Given the description of an element on the screen output the (x, y) to click on. 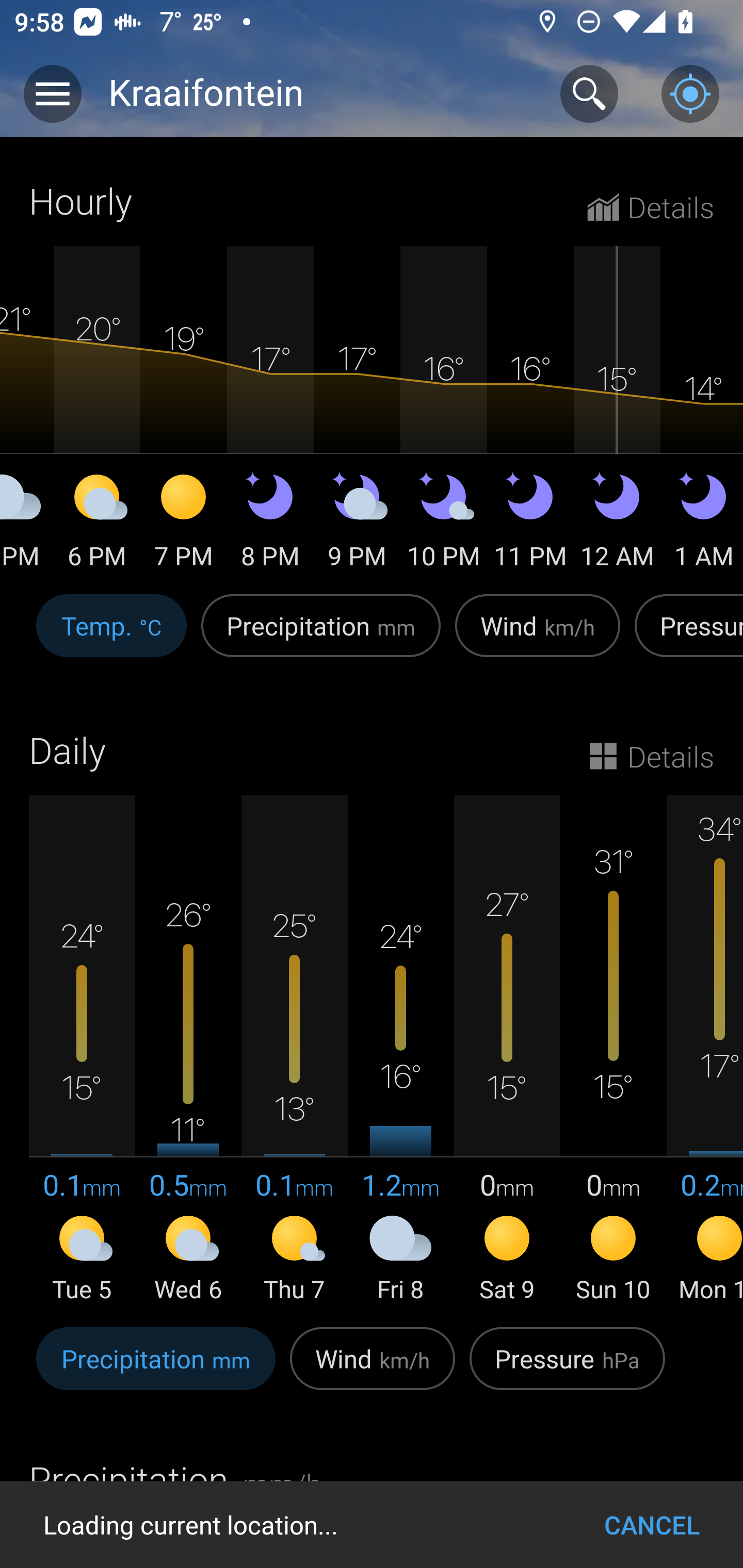
5 PM (26, 524)
6 PM (96, 524)
7 PM (183, 524)
8 PM (270, 524)
9 PM (356, 524)
10 PM (443, 524)
11 PM (530, 524)
12 AM (616, 524)
1 AM (701, 524)
Temp. °C (110, 636)
Precipitation mm (320, 636)
Wind km/h (537, 636)
Pressure (685, 636)
24° 15° 0.1 mm Tue 5 (81, 1050)
26° 11° 0.5 mm Wed 6 (188, 1050)
25° 13° 0.1 mm Thu 7 (294, 1050)
24° 16° 1.2 mm Fri 8 (400, 1050)
27° 15° 0 mm Sat 9 (506, 1050)
31° 15° 0 mm Sun 10 (613, 1050)
34° 17° 0.2 mm Mon 11 (704, 1050)
Precipitation mm (155, 1369)
Wind km/h (372, 1369)
Pressure hPa (567, 1369)
Loading current location... CANCEL (371, 1524)
CANCEL (651, 1524)
